Given the description of an element on the screen output the (x, y) to click on. 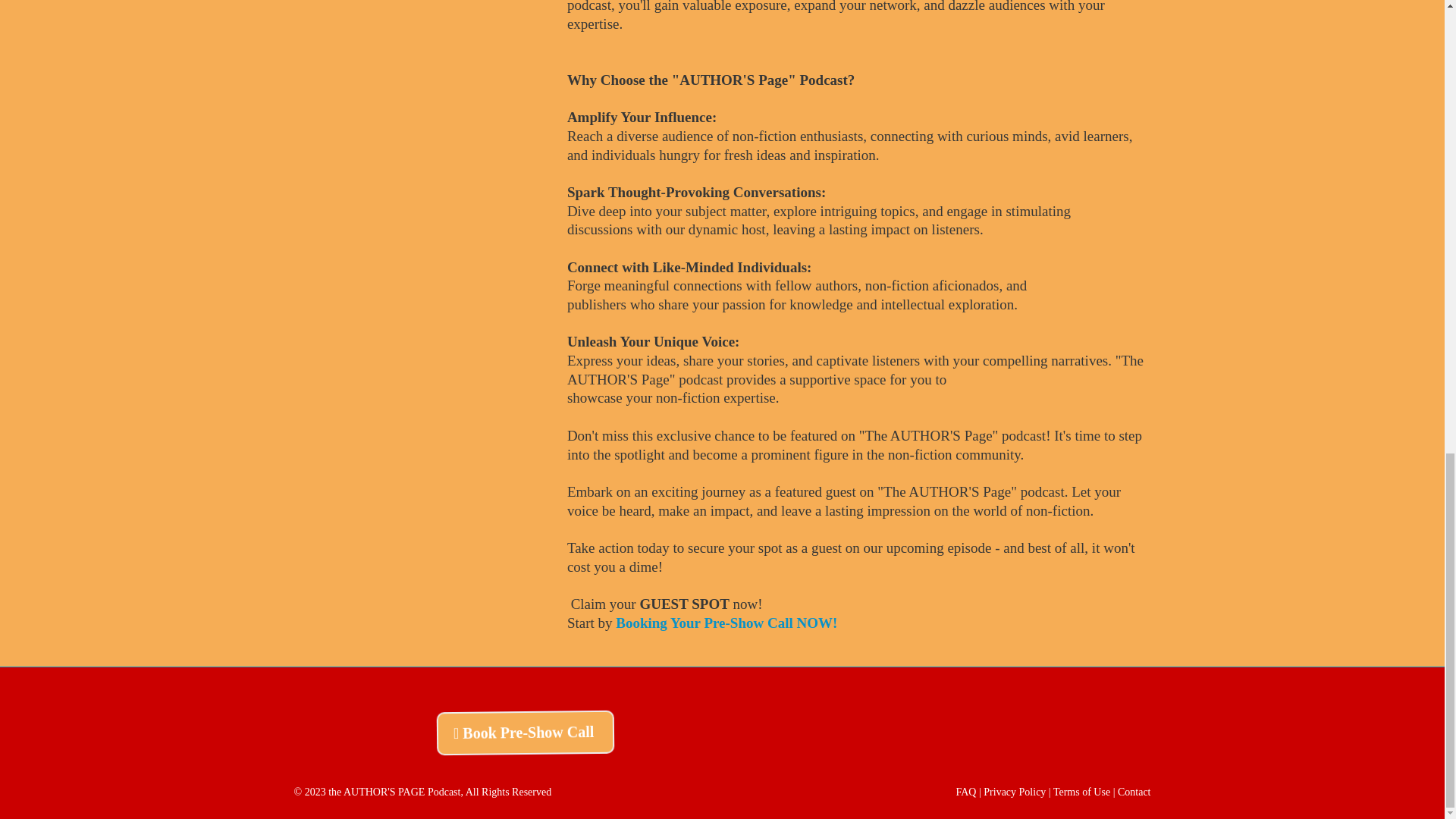
Booking Your Pre-Show Call NOW! (726, 622)
FAQ (966, 791)
Contact (1134, 791)
Book Pre-Show Call (525, 732)
Terms of Use (1082, 791)
Privacy Policy (1016, 791)
